Given the description of an element on the screen output the (x, y) to click on. 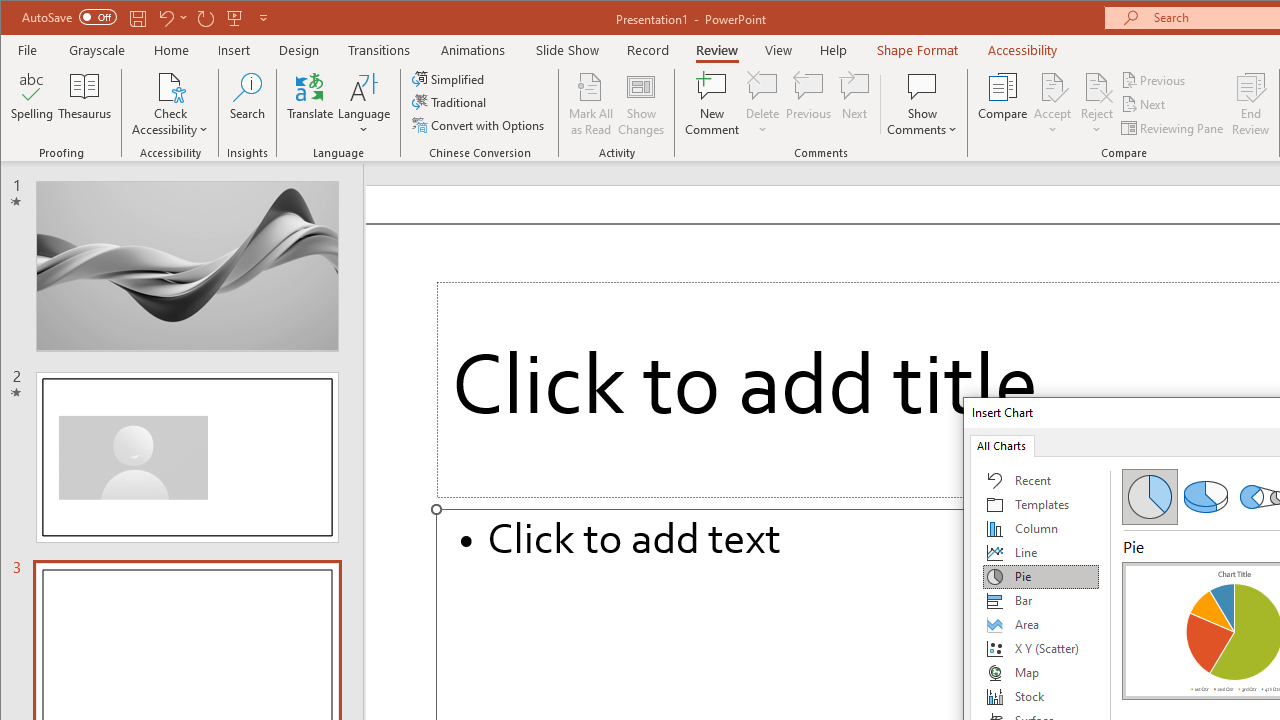
3-D Pie (1205, 496)
Traditional (450, 101)
Area (1041, 624)
Show Changes (640, 104)
Bar (1041, 600)
Previous (1154, 80)
Convert with Options... (479, 124)
Thesaurus... (84, 104)
Check Accessibility (170, 104)
Simplified (450, 78)
